Given the description of an element on the screen output the (x, y) to click on. 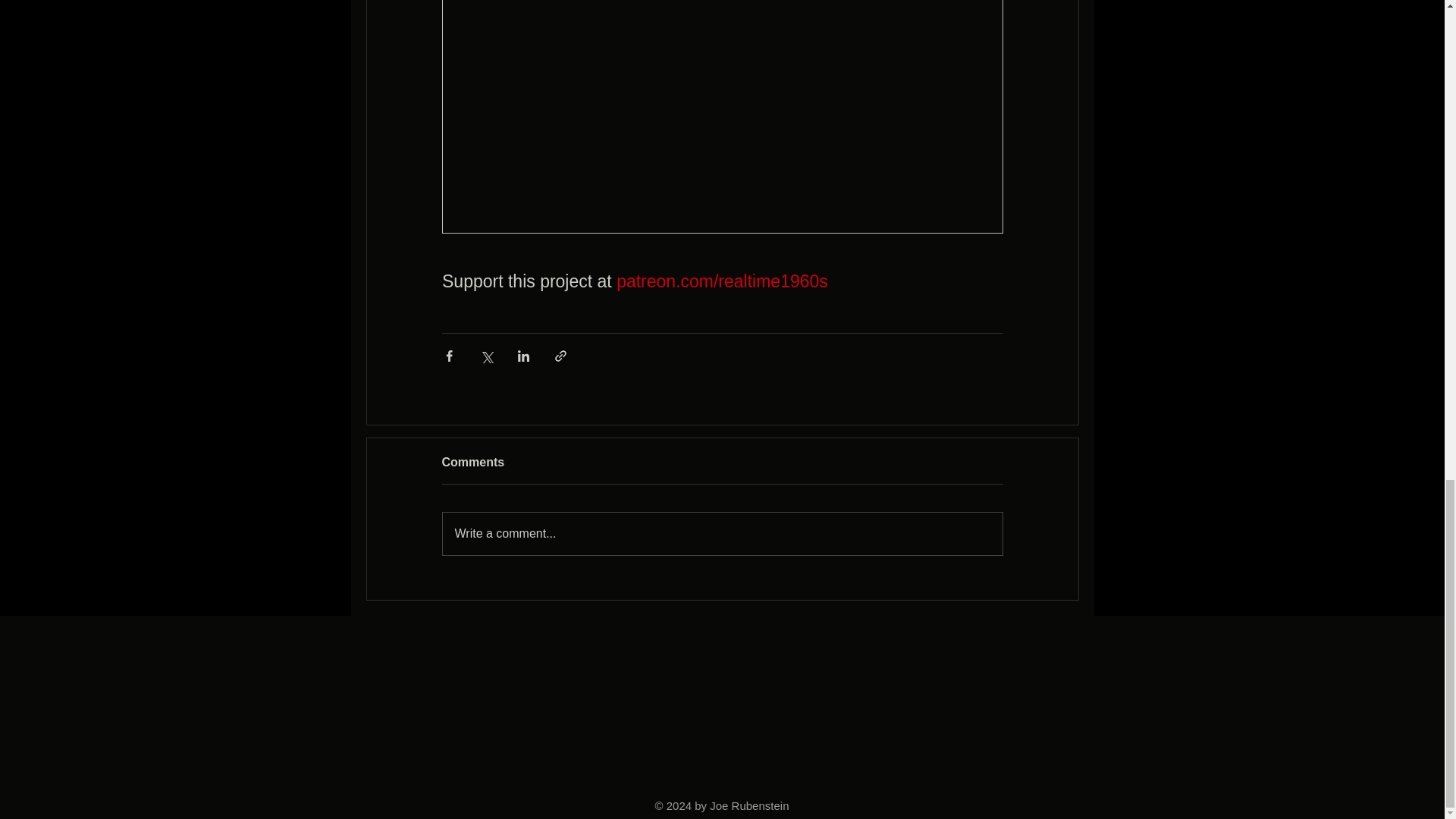
Write a comment... (722, 533)
